Given the description of an element on the screen output the (x, y) to click on. 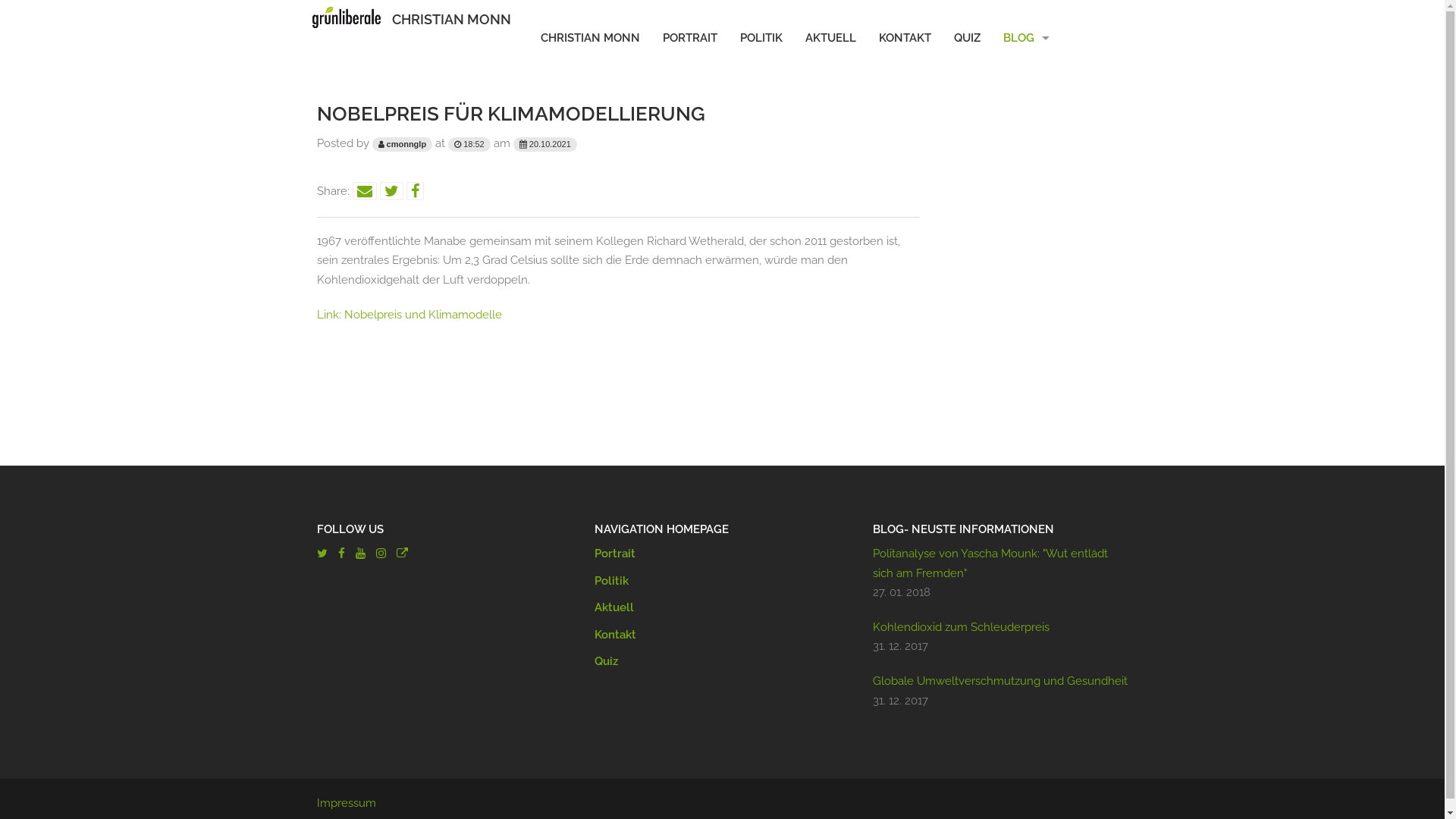
Politik Element type: text (611, 580)
CHRISTIAN MONN Element type: text (451, 19)
Twitter Element type: hover (321, 552)
Aktuell Element type: text (613, 607)
Facebook Element type: hover (341, 552)
Quiz Element type: text (606, 661)
QUIZ Element type: text (966, 37)
Globale Umweltverschmutzung und Gesundheit Element type: text (999, 680)
CHRISTIAN MONN Element type: text (590, 37)
Impressum Element type: text (346, 802)
Youtube Element type: hover (359, 552)
Instagram Element type: hover (380, 552)
Personal Website Element type: hover (401, 552)
PORTRAIT Element type: text (689, 37)
AKTUELL Element type: text (829, 37)
BLOG Element type: text (1025, 37)
Kontakt Element type: text (615, 634)
Christian Monn Element type: hover (346, 17)
Link: Nobelpreis und Klimamodelle Element type: text (409, 314)
Hitzeschutz Element type: text (1025, 92)
Portrait Element type: text (614, 553)
POLITIK Element type: text (760, 37)
Kohlendioxid zum Schleuderpreis Element type: text (960, 626)
KONTAKT Element type: text (904, 37)
